Given the description of an element on the screen output the (x, y) to click on. 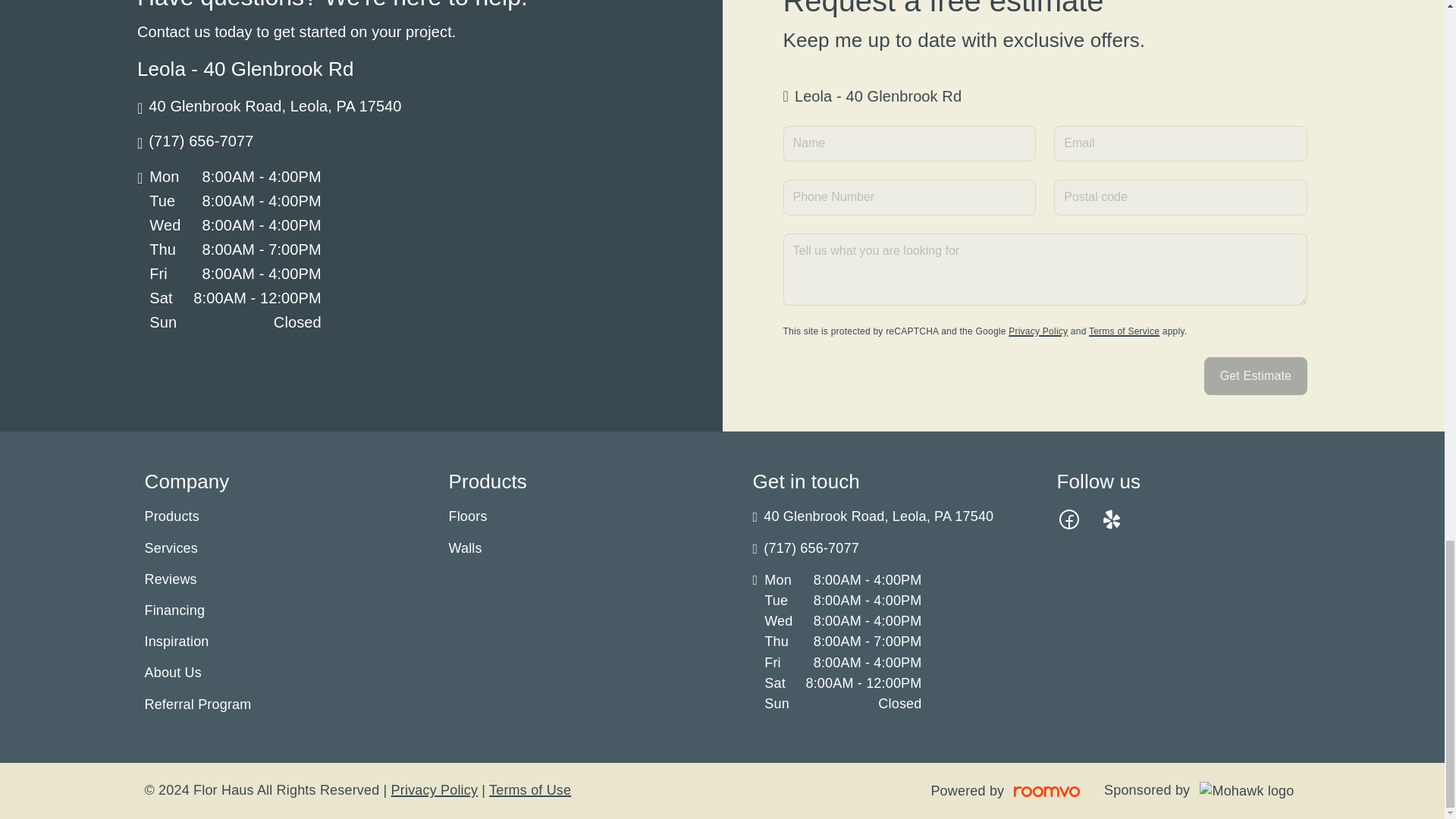
Flor Haus on Facebook (1069, 518)
Flor Haus on Yelp (1111, 518)
